Given the description of an element on the screen output the (x, y) to click on. 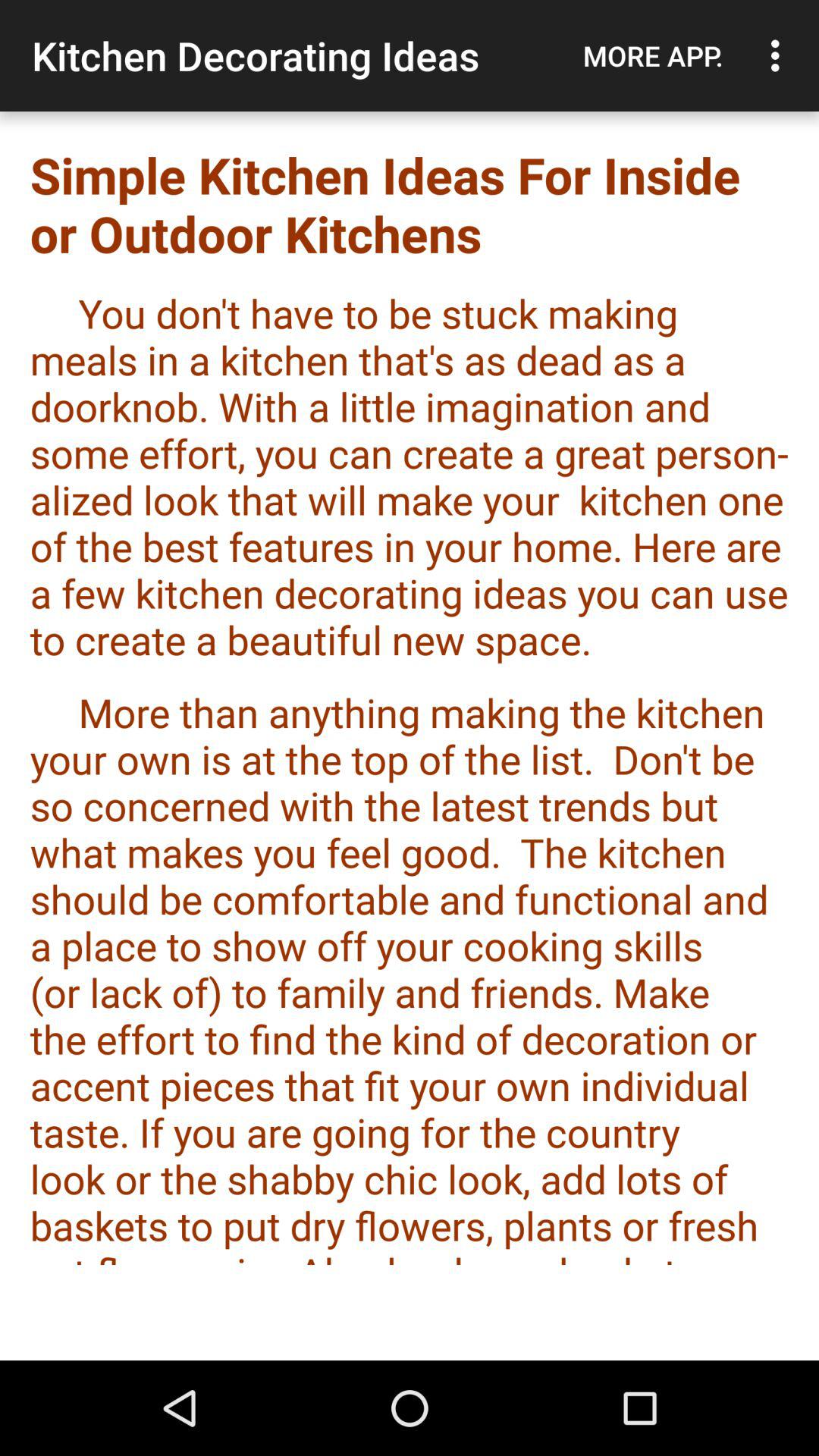
tap icon next to the more app. (779, 55)
